Given the description of an element on the screen output the (x, y) to click on. 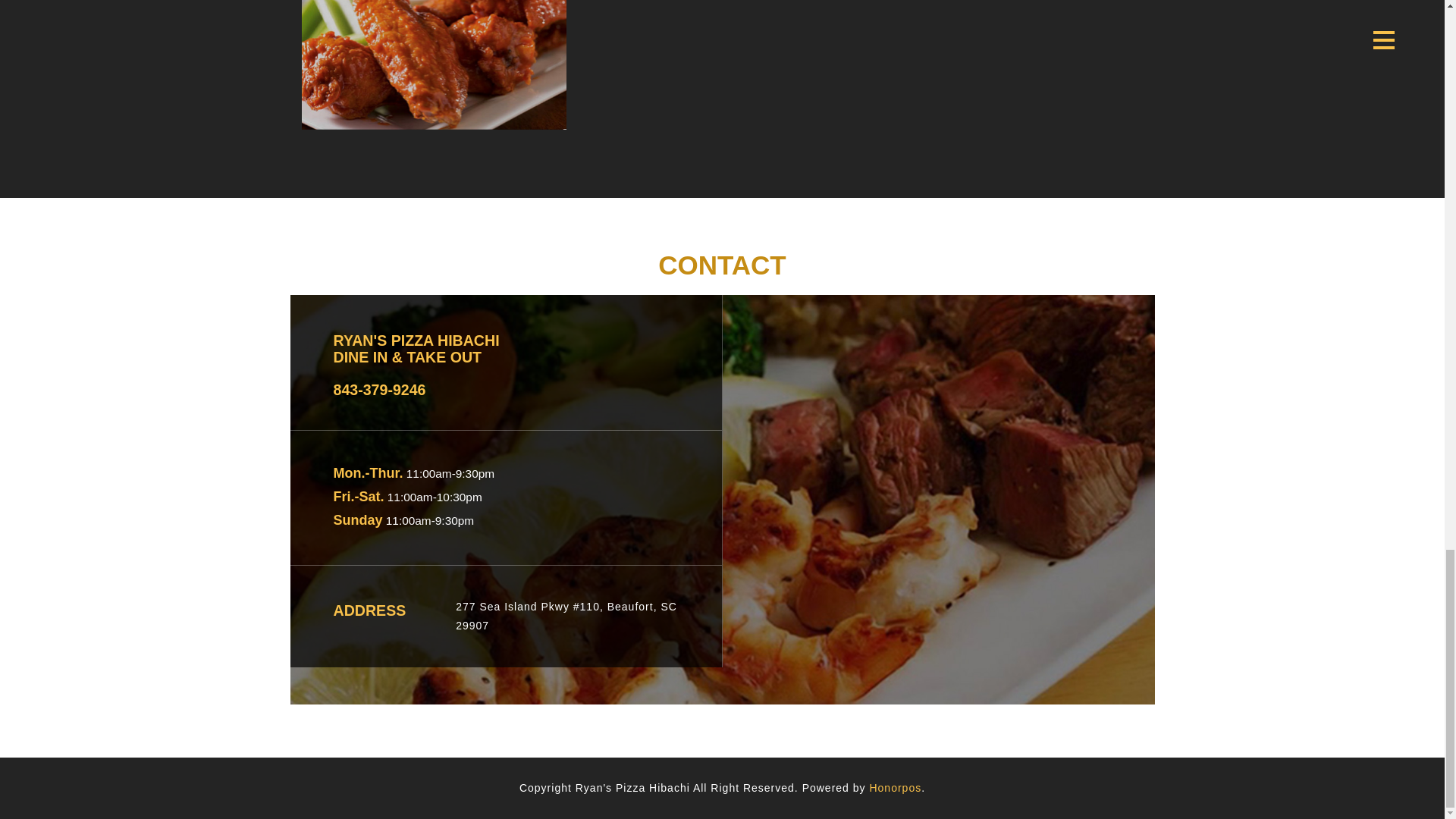
11:00am-10:30pm (432, 496)
11:00am-9:30pm (449, 472)
Honorpos (895, 787)
843-379-9246 (379, 389)
11:00am-9:30pm (428, 520)
